Given the description of an element on the screen output the (x, y) to click on. 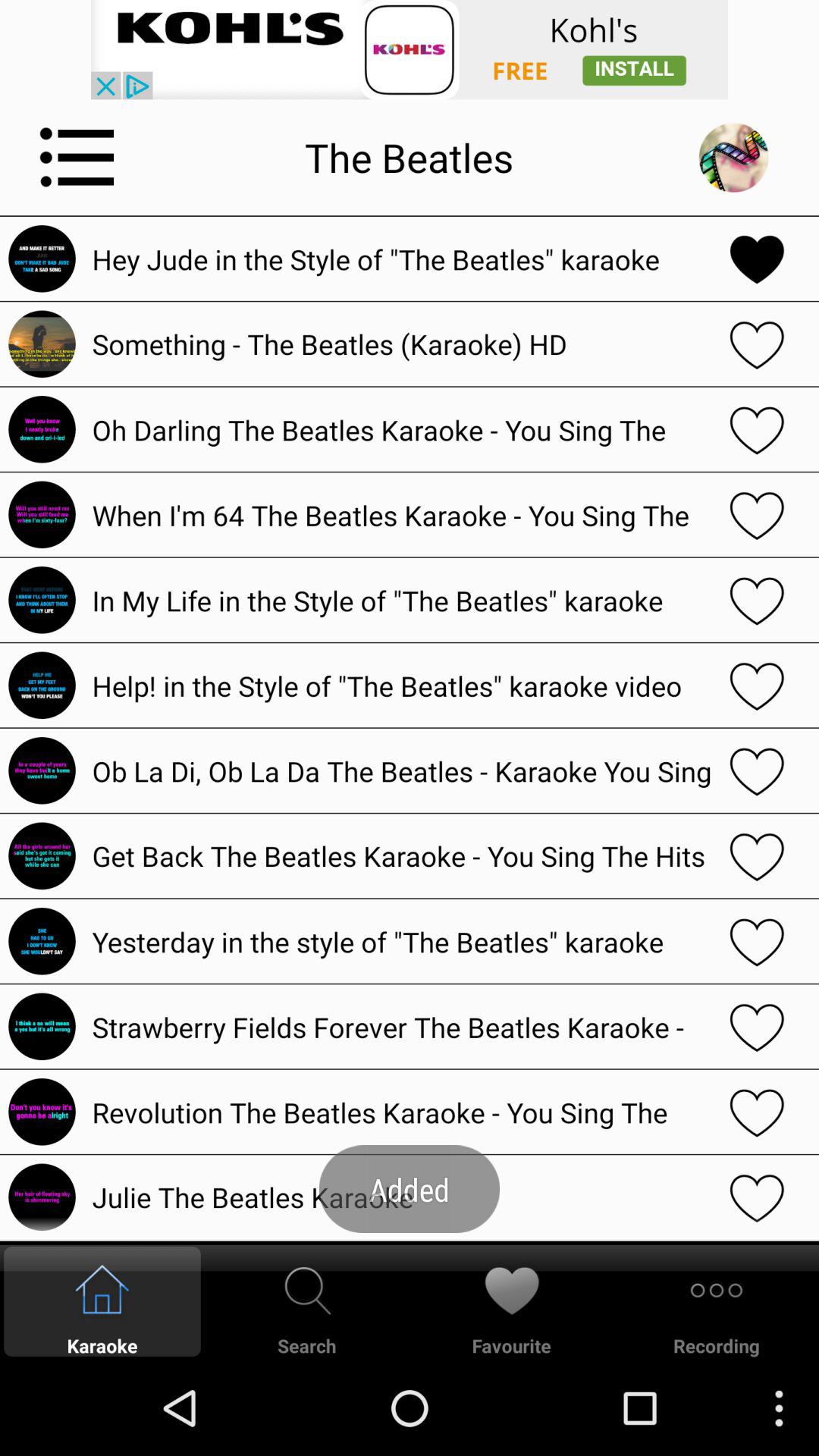
click to favorites option (756, 1026)
